Given the description of an element on the screen output the (x, y) to click on. 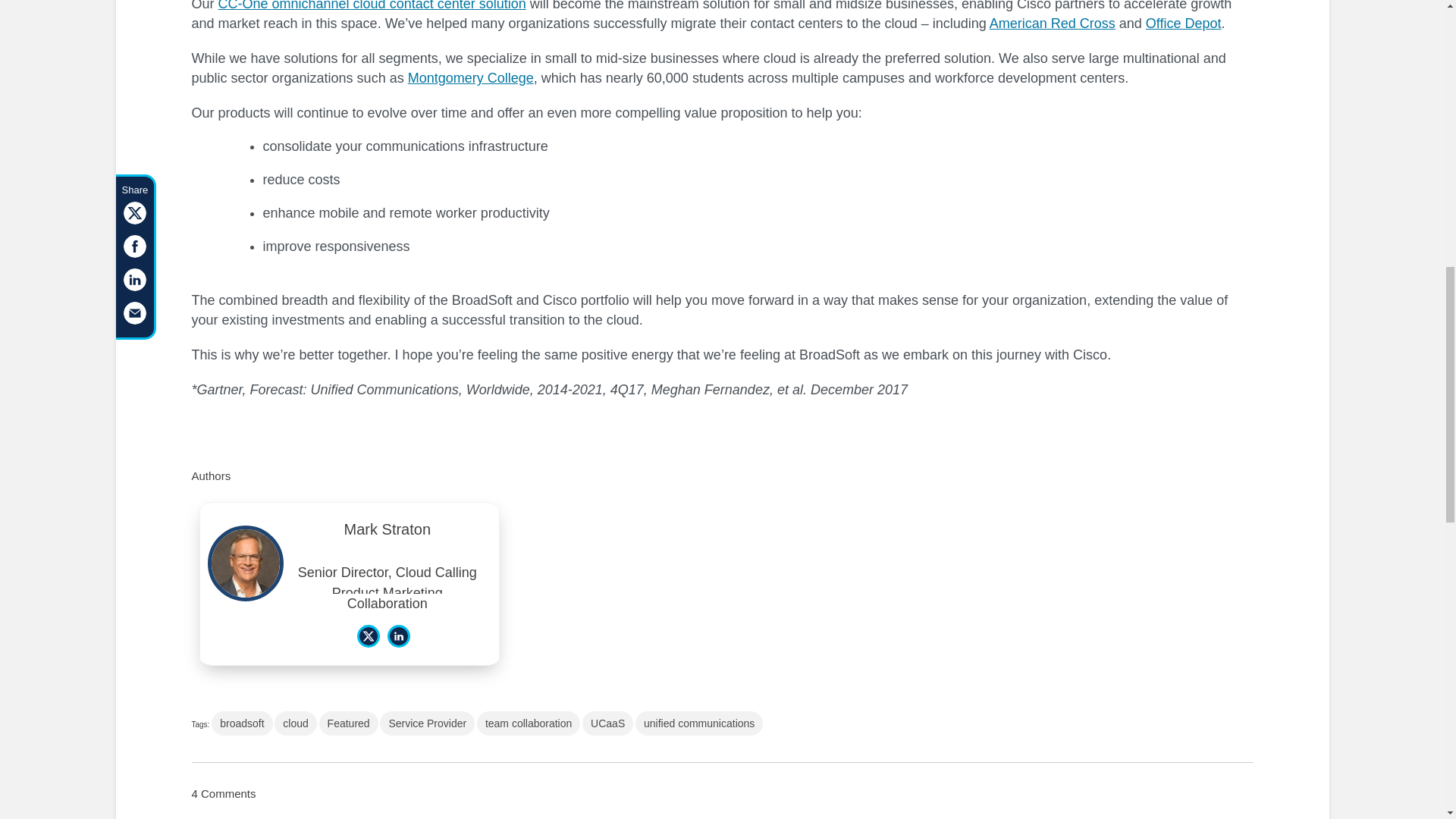
American Red Cross (1052, 23)
Service Provider (427, 723)
UCaaS (607, 723)
CC-One (245, 5)
omnichannel cloud contact center solution (398, 5)
cloud (295, 723)
Featured (348, 723)
unified communications (698, 723)
team collaboration (528, 723)
broadsoft (241, 723)
